Given the description of an element on the screen output the (x, y) to click on. 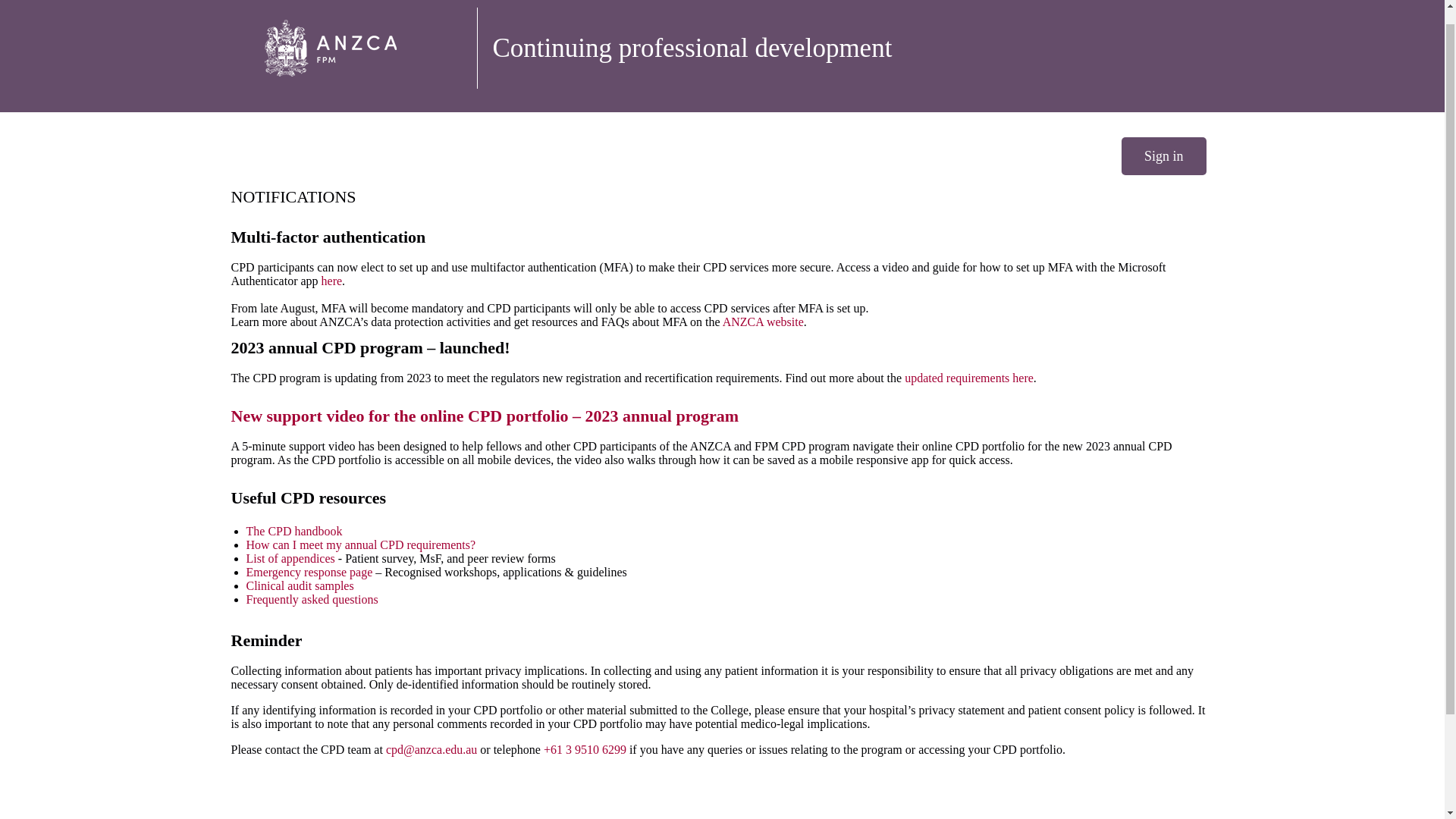
updated requirements here (968, 377)
ANZCA website (762, 321)
Emergency response page (309, 571)
List of appendices (290, 558)
here (331, 280)
The CPD handbook (294, 530)
How can I meet my annual CPD requirements? (361, 544)
Back to the Dashboard (350, 47)
Sign in (1164, 156)
Frequently asked questions (311, 599)
Clinical audit samples (299, 585)
